Given the description of an element on the screen output the (x, y) to click on. 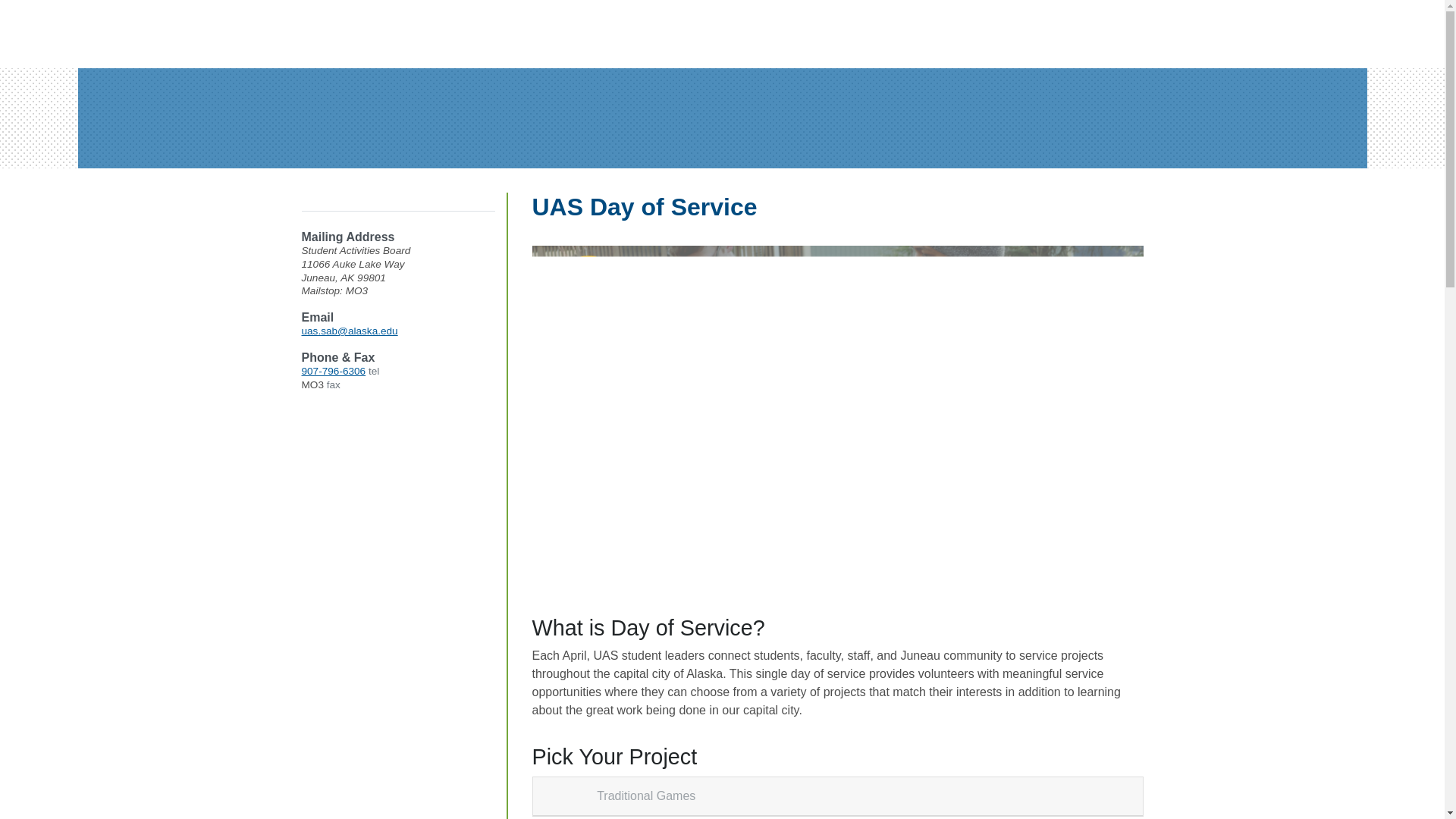
Skip to Main Content (66, 15)
907-796-6306 (333, 370)
Previous (578, 417)
Next (1096, 417)
Traditional Games (645, 795)
